Given the description of an element on the screen output the (x, y) to click on. 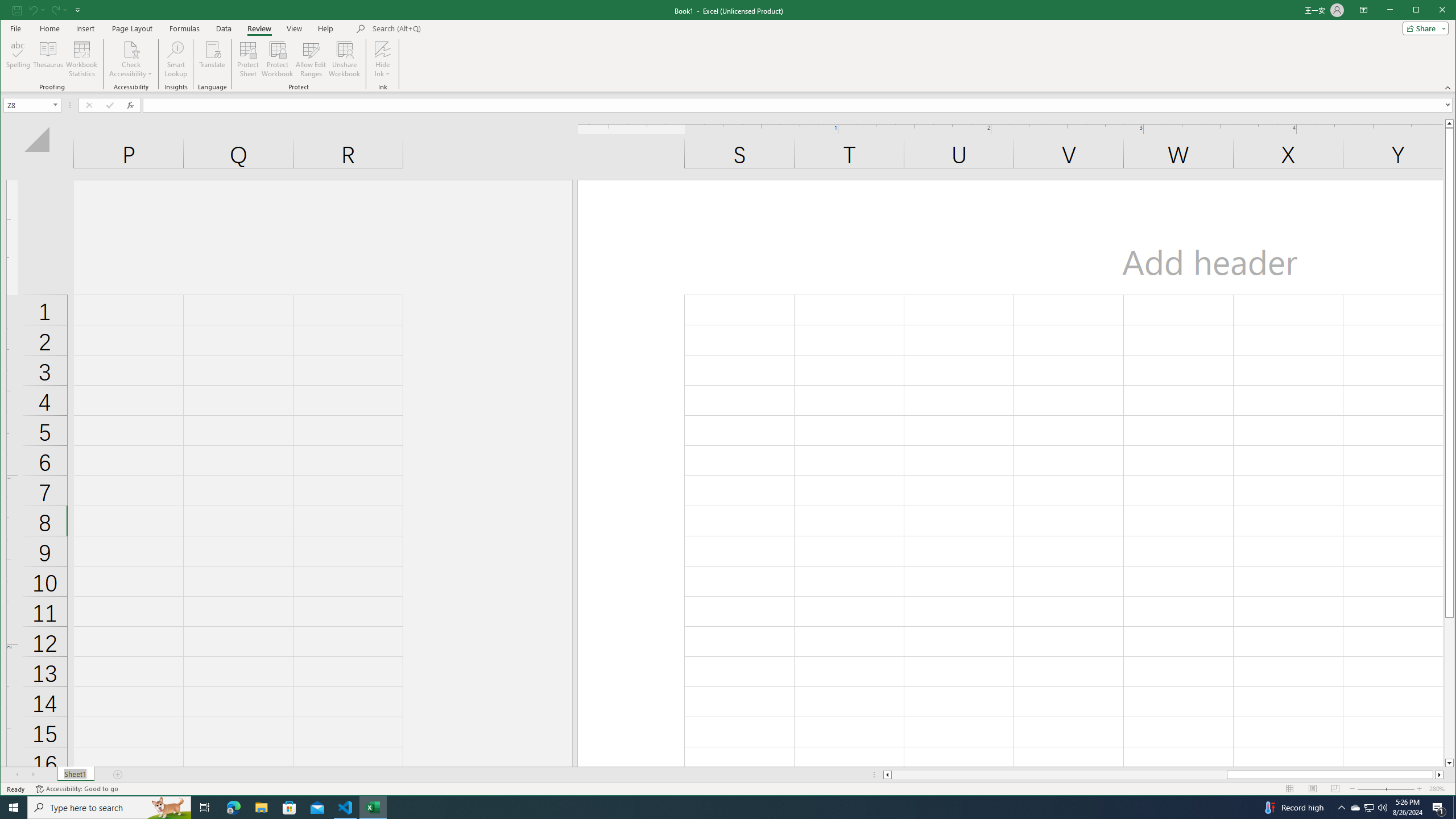
Maximize (1432, 11)
Show desktop (1454, 807)
Record high (1292, 807)
Notification Chevron (1341, 807)
Running applications (717, 807)
Protect Sheet... (247, 59)
Protect Workbook... (277, 59)
